Given the description of an element on the screen output the (x, y) to click on. 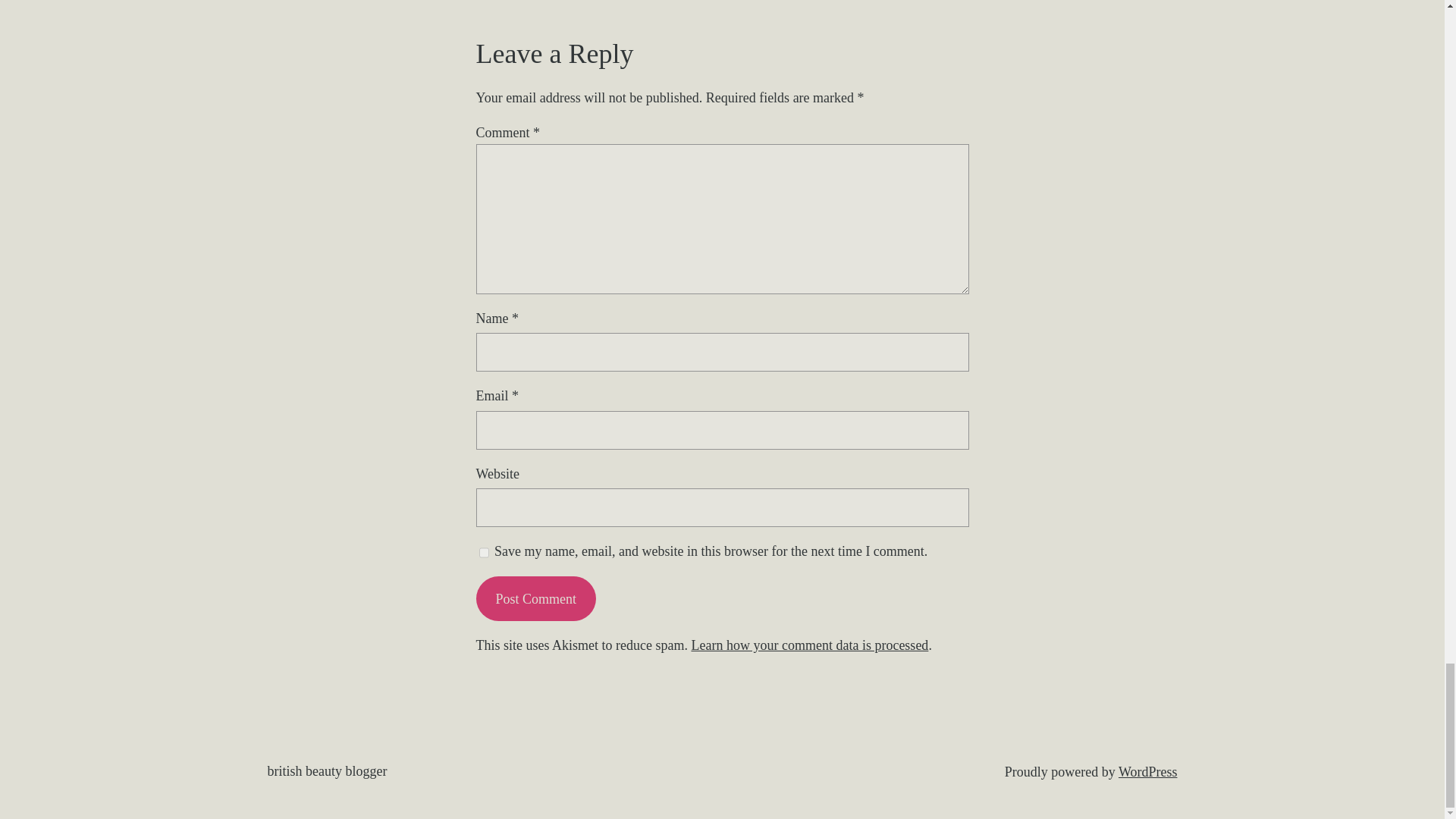
WordPress (1147, 771)
british beauty blogger (326, 770)
Post Comment (535, 598)
Learn how your comment data is processed (809, 645)
Post Comment (535, 598)
